Given the description of an element on the screen output the (x, y) to click on. 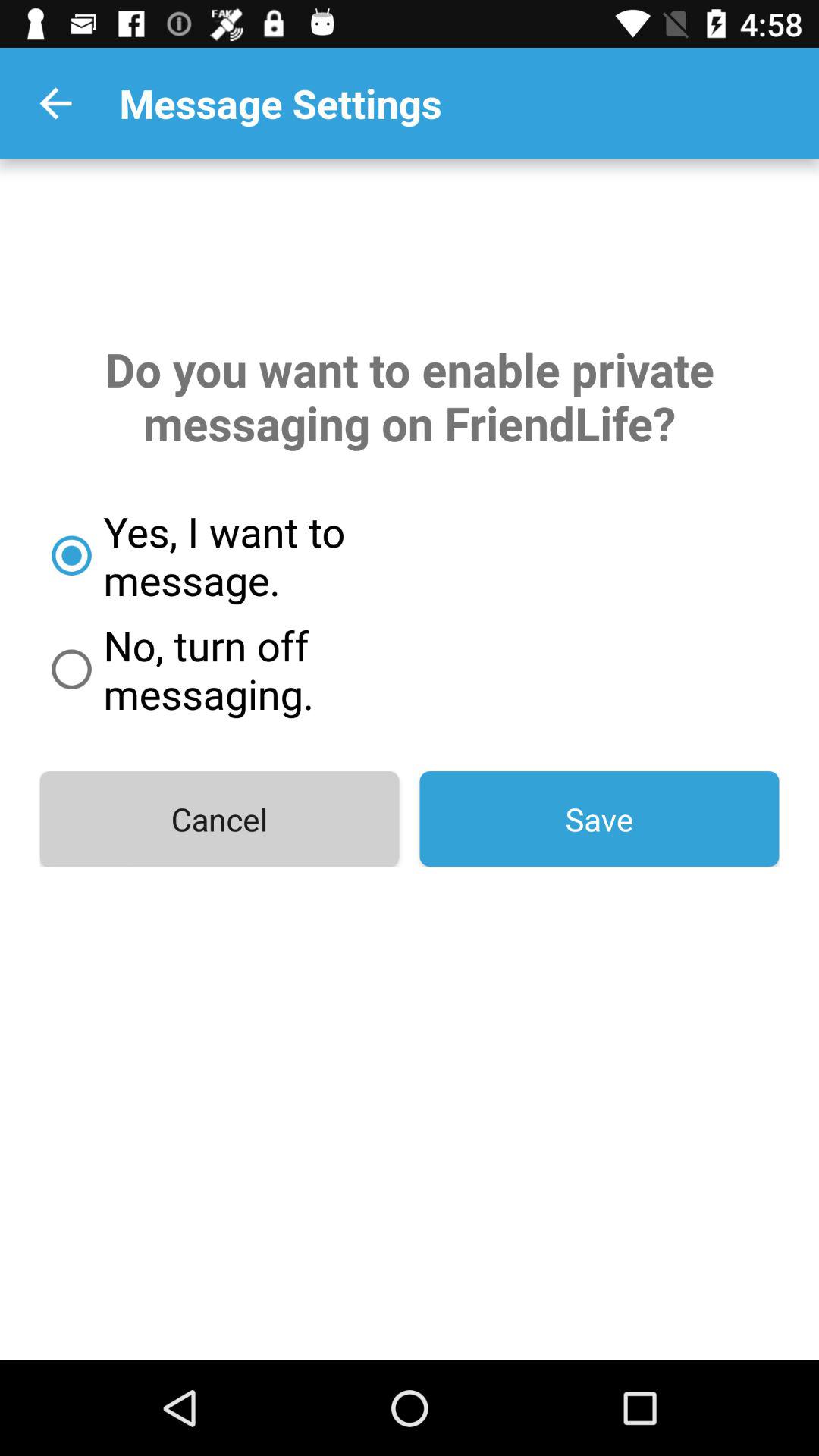
flip until no turn off item (278, 669)
